Given the description of an element on the screen output the (x, y) to click on. 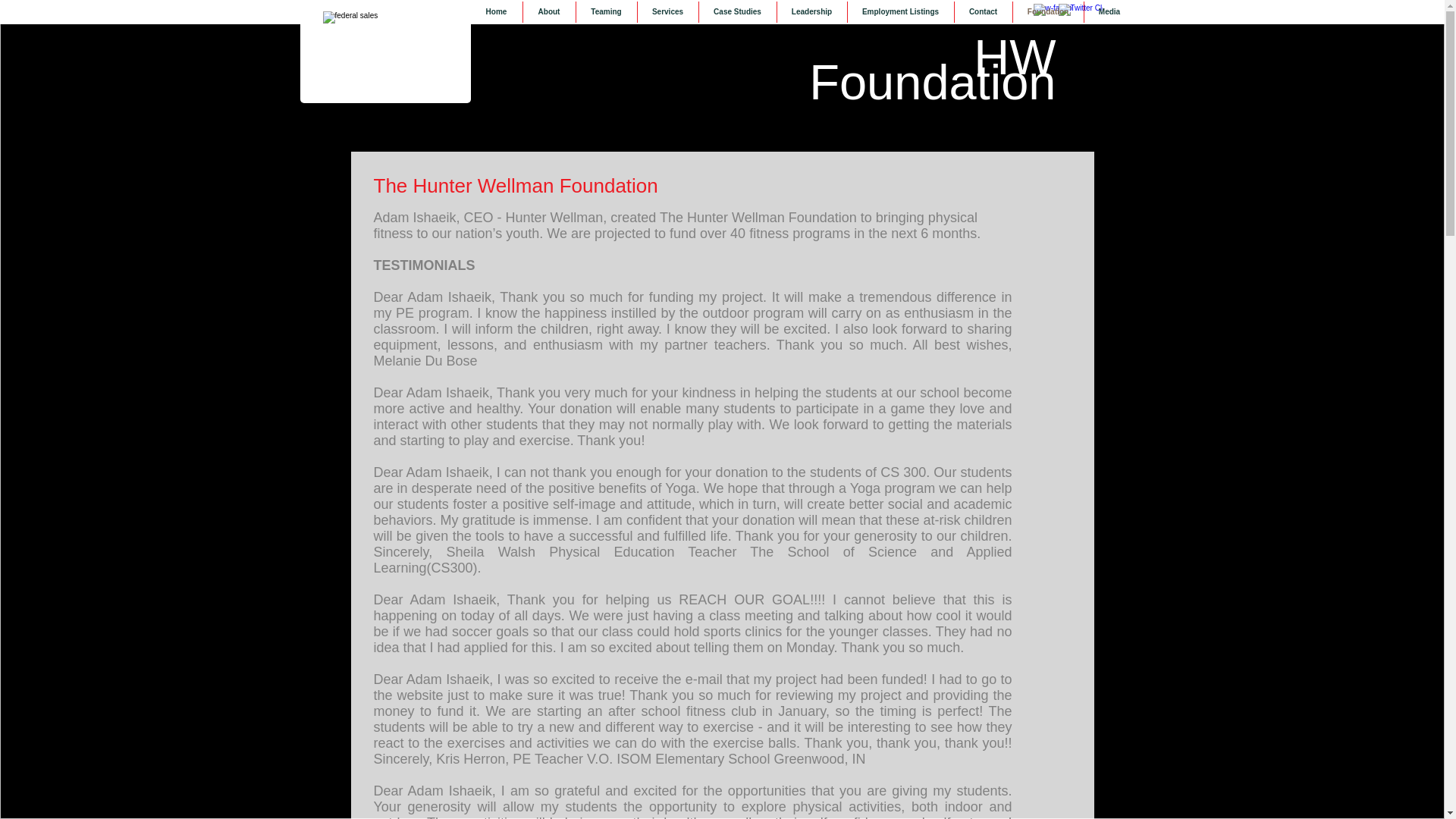
About (548, 11)
Home (495, 11)
Media (1109, 11)
Services (667, 11)
Teaming (606, 11)
Case Studies (737, 11)
Employment Listings (900, 11)
Contact (982, 11)
Leadership (810, 11)
Foundation (1048, 11)
